Given the description of an element on the screen output the (x, y) to click on. 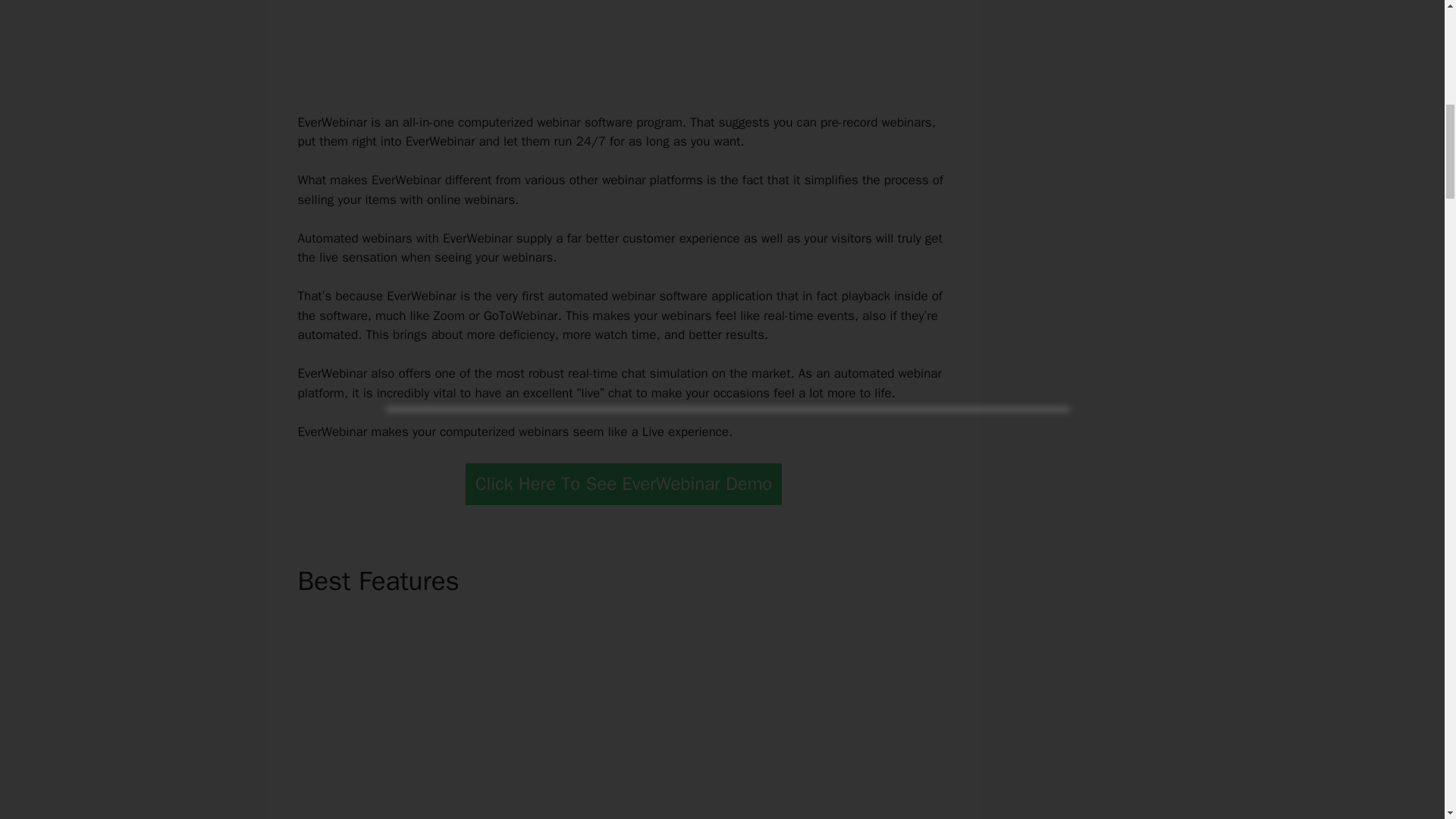
Click Here To See EverWebinar Demo (624, 484)
Scroll back to top (1406, 720)
